Given the description of an element on the screen output the (x, y) to click on. 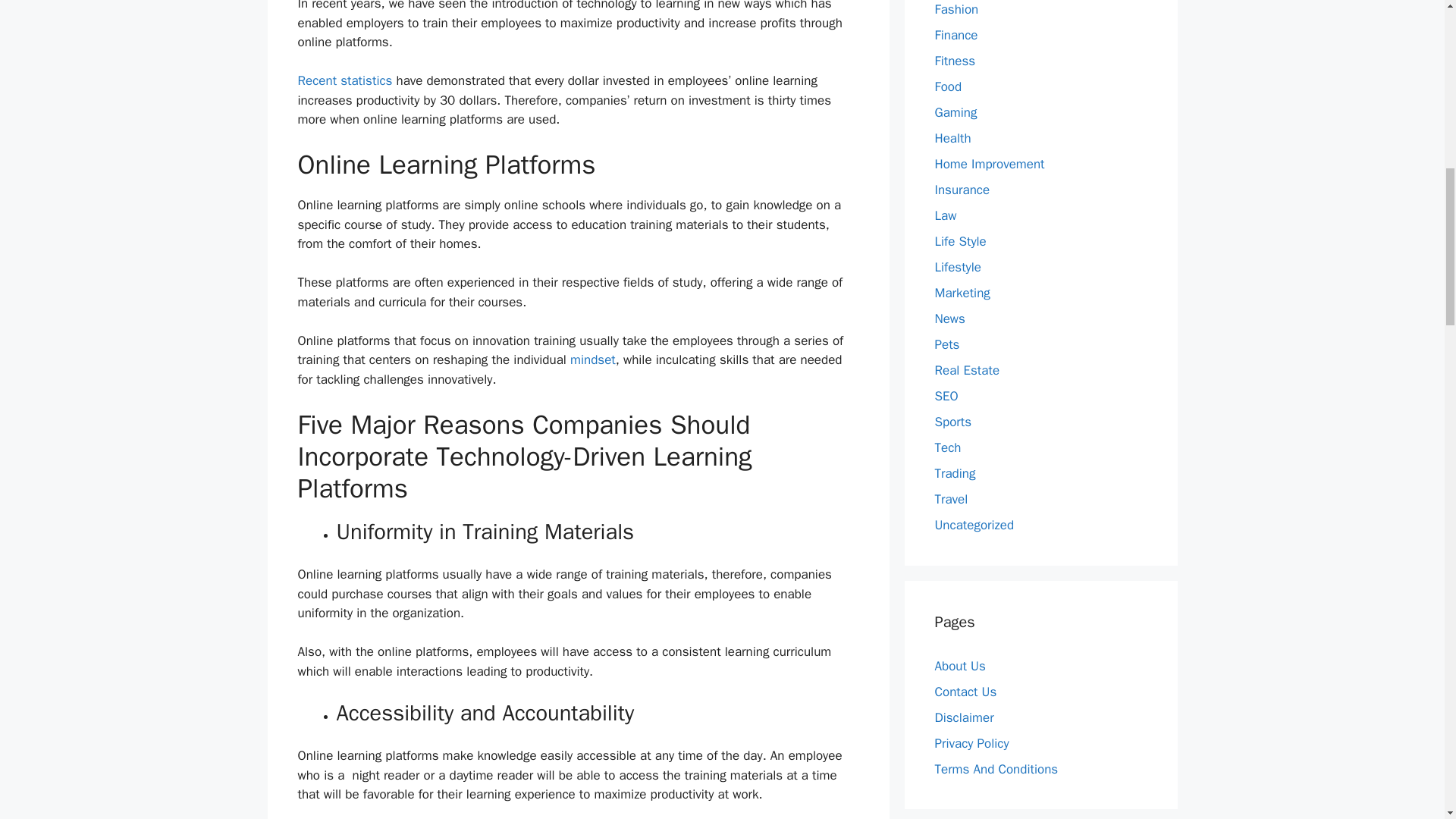
Recent statistics (344, 80)
mindset (592, 359)
